Given the description of an element on the screen output the (x, y) to click on. 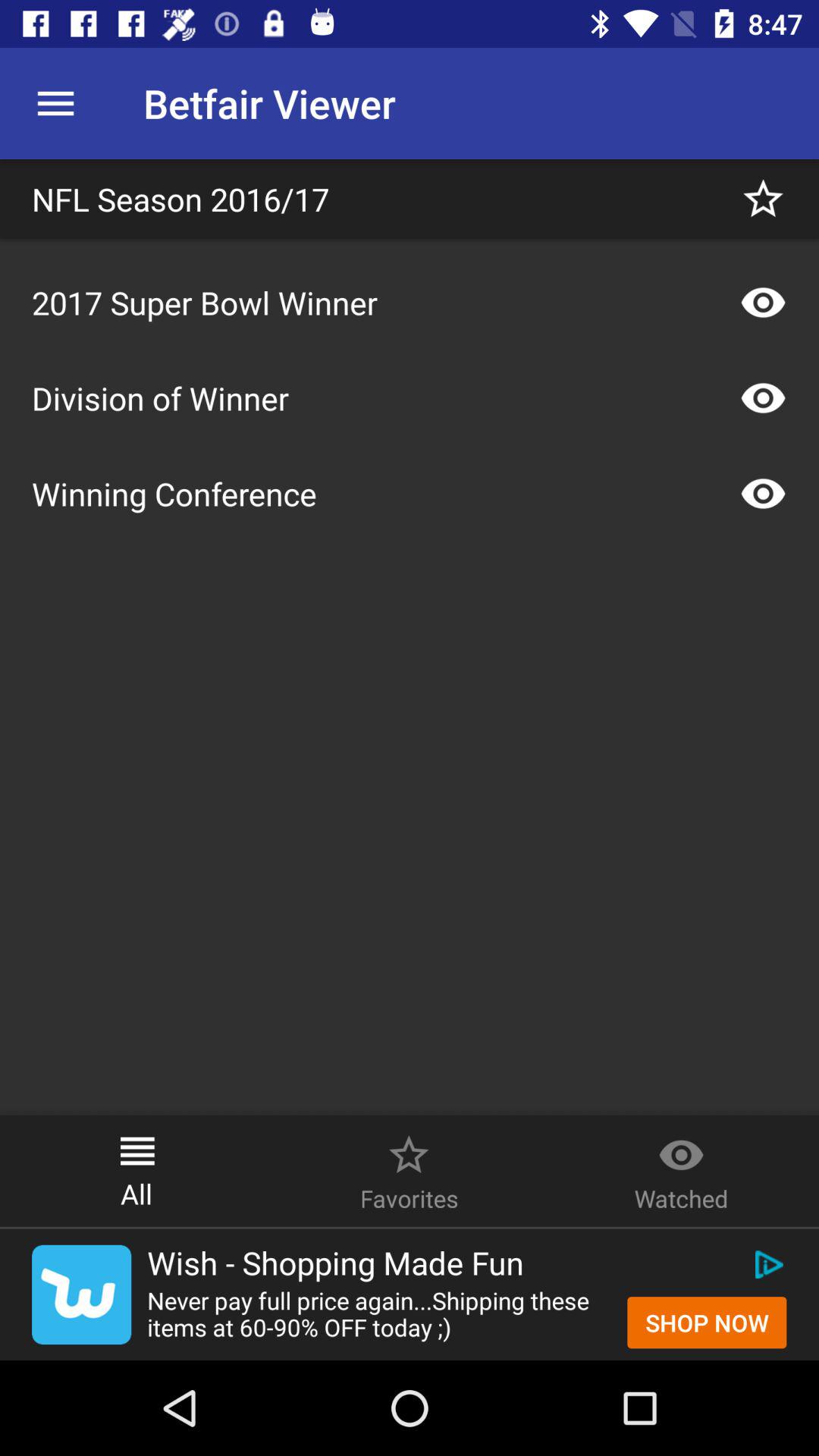
open the icon next to never pay full item (706, 1322)
